Given the description of an element on the screen output the (x, y) to click on. 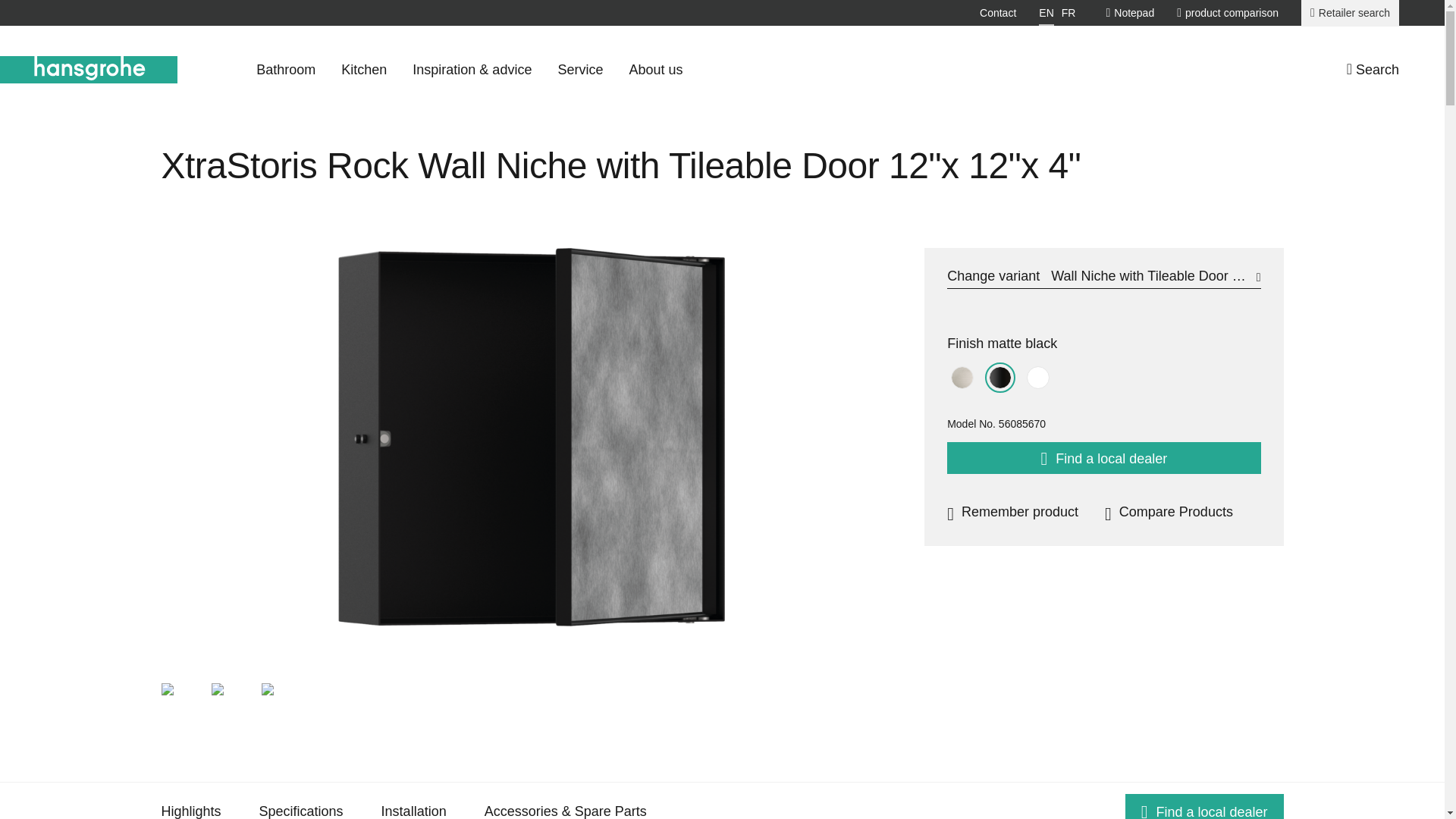
Notepad (1129, 12)
Contact (997, 12)
Kitchen (363, 69)
Service (579, 69)
Bathroom (285, 69)
product comparison (1227, 12)
Contact (997, 12)
Retailer search (1350, 13)
About us (655, 69)
hansgrohe logo (88, 69)
